Given the description of an element on the screen output the (x, y) to click on. 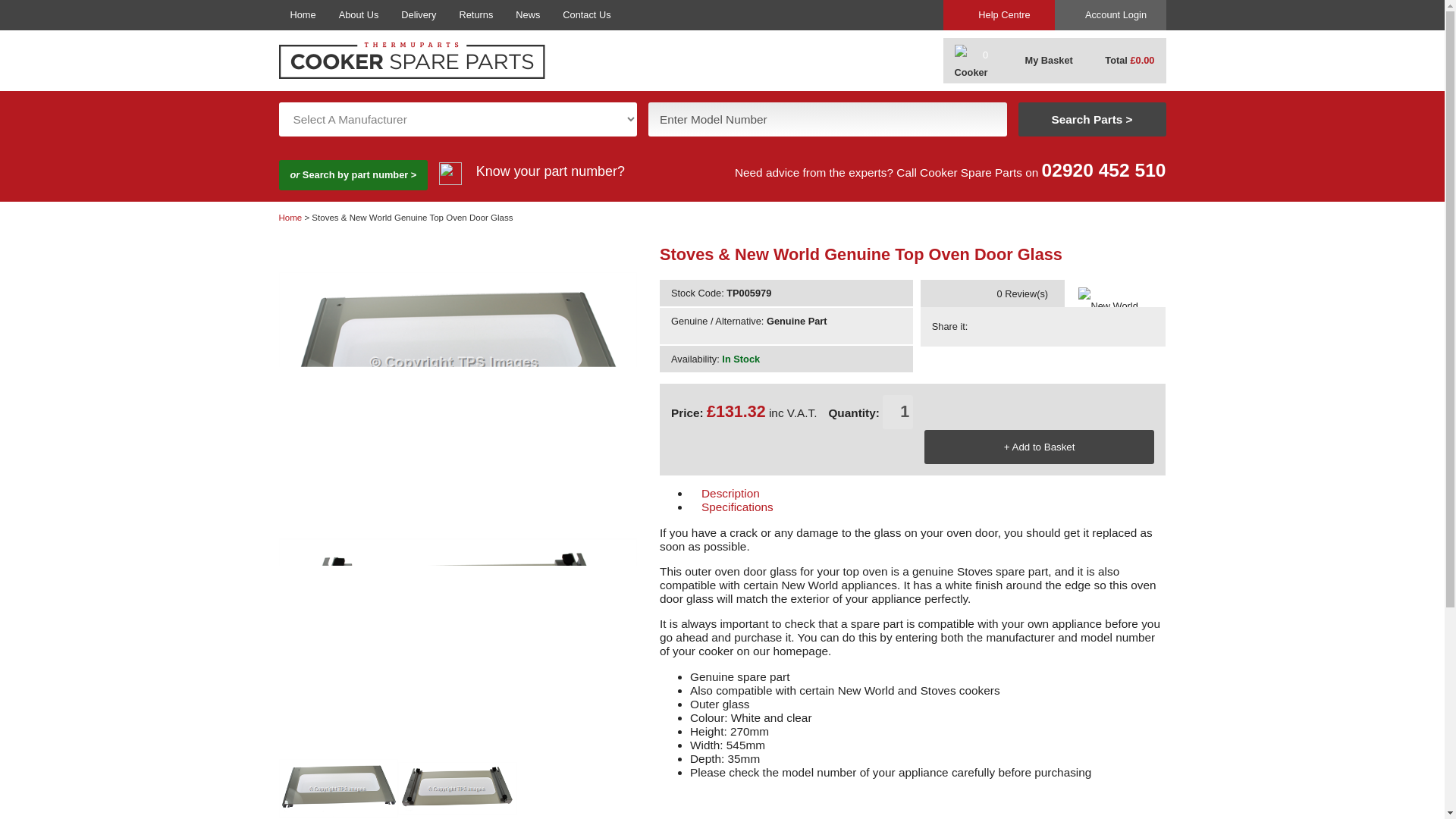
Contact Us (586, 15)
Enter Model Number (827, 119)
My Basket (1038, 60)
Account (1110, 15)
Specifications (809, 507)
Returns (476, 15)
About Us (358, 15)
call us today on 02920 452 510 (1104, 169)
News (527, 15)
1 (897, 411)
